Given the description of an element on the screen output the (x, y) to click on. 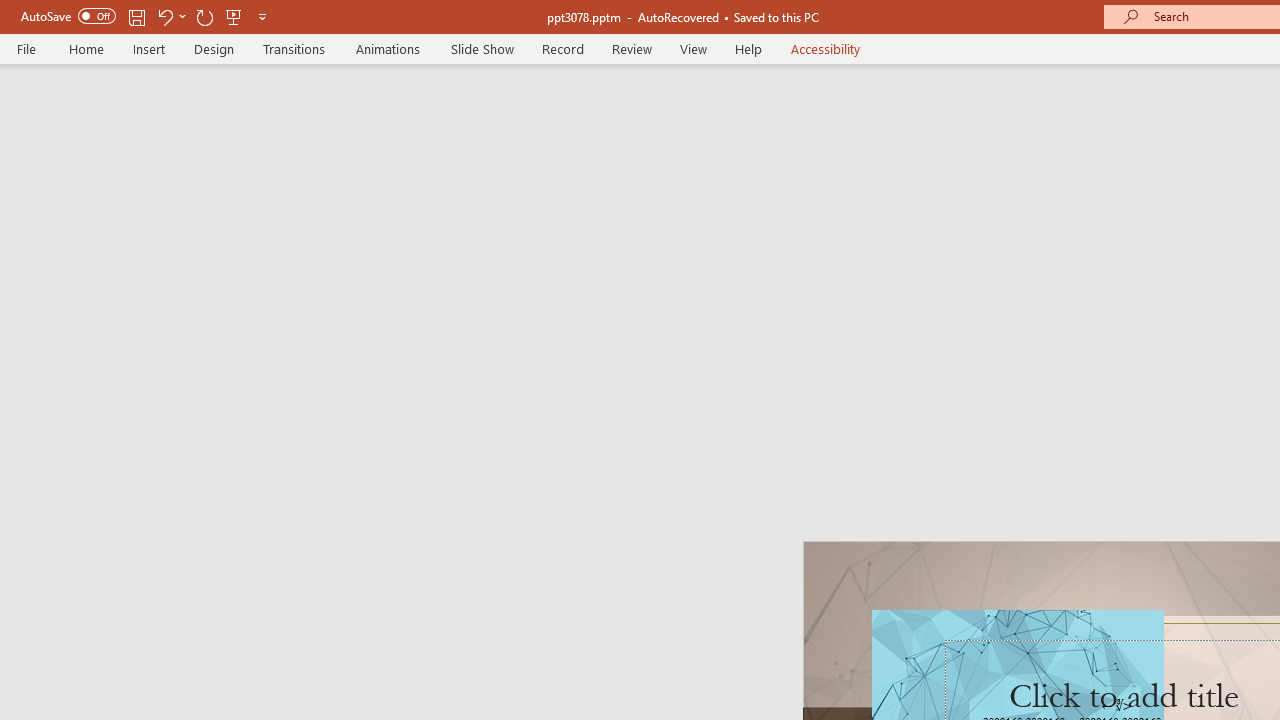
TextBox 7 (1117, 705)
